Given the description of an element on the screen output the (x, y) to click on. 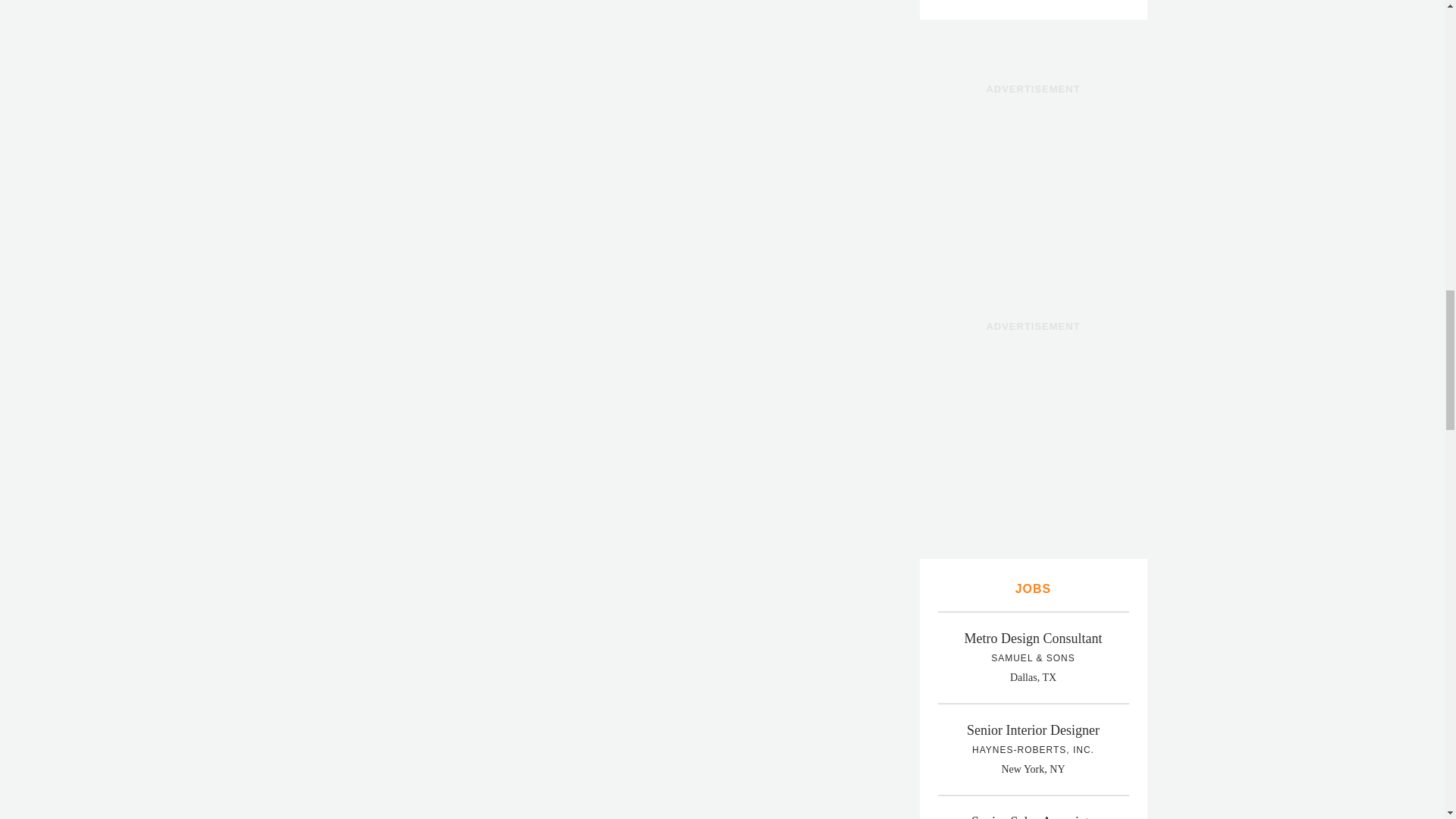
3rd party ad content (1032, 433)
3rd party ad content (1032, 196)
